Given the description of an element on the screen output the (x, y) to click on. 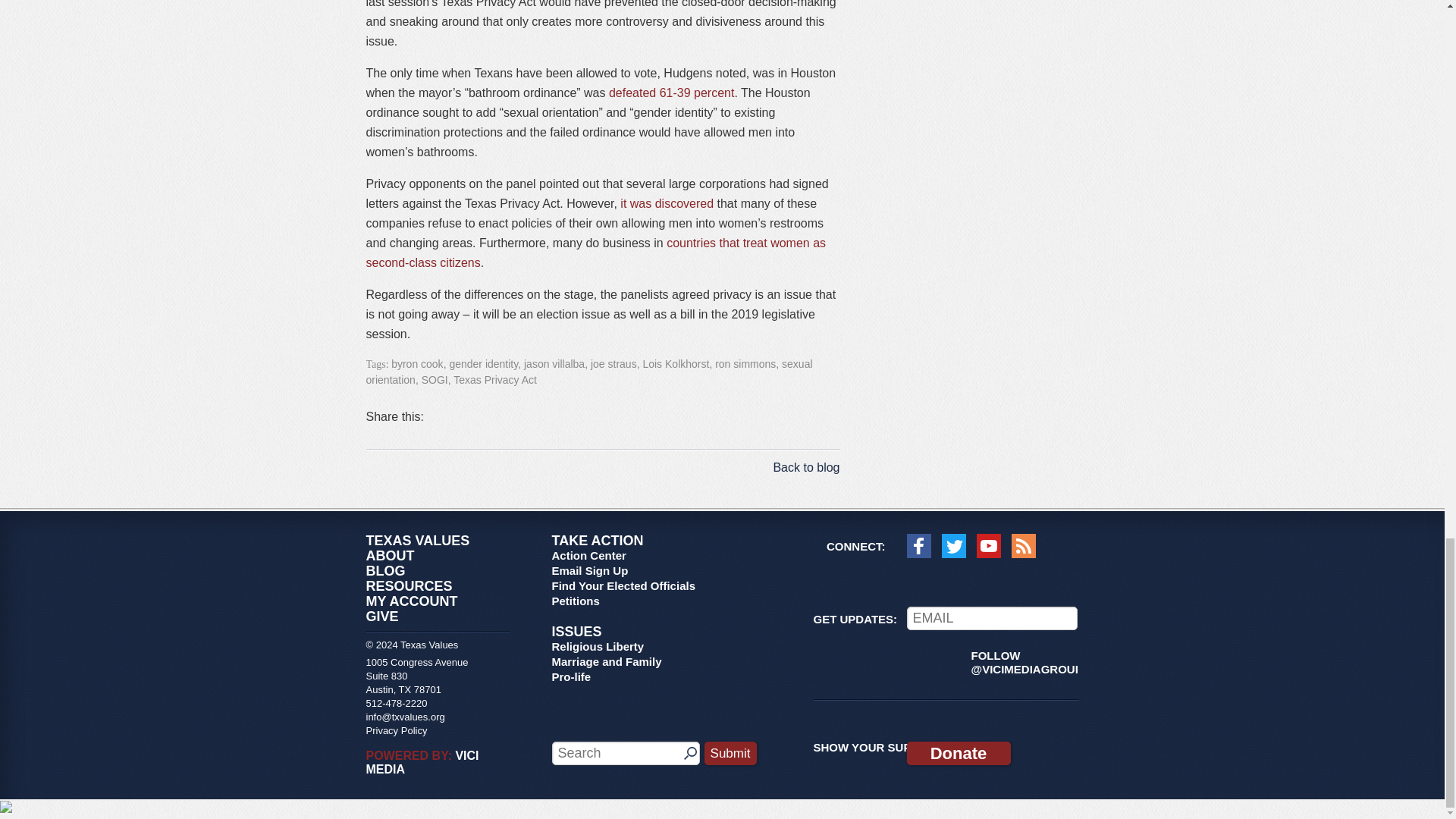
Submit (730, 753)
Submit (730, 753)
